Given the description of an element on the screen output the (x, y) to click on. 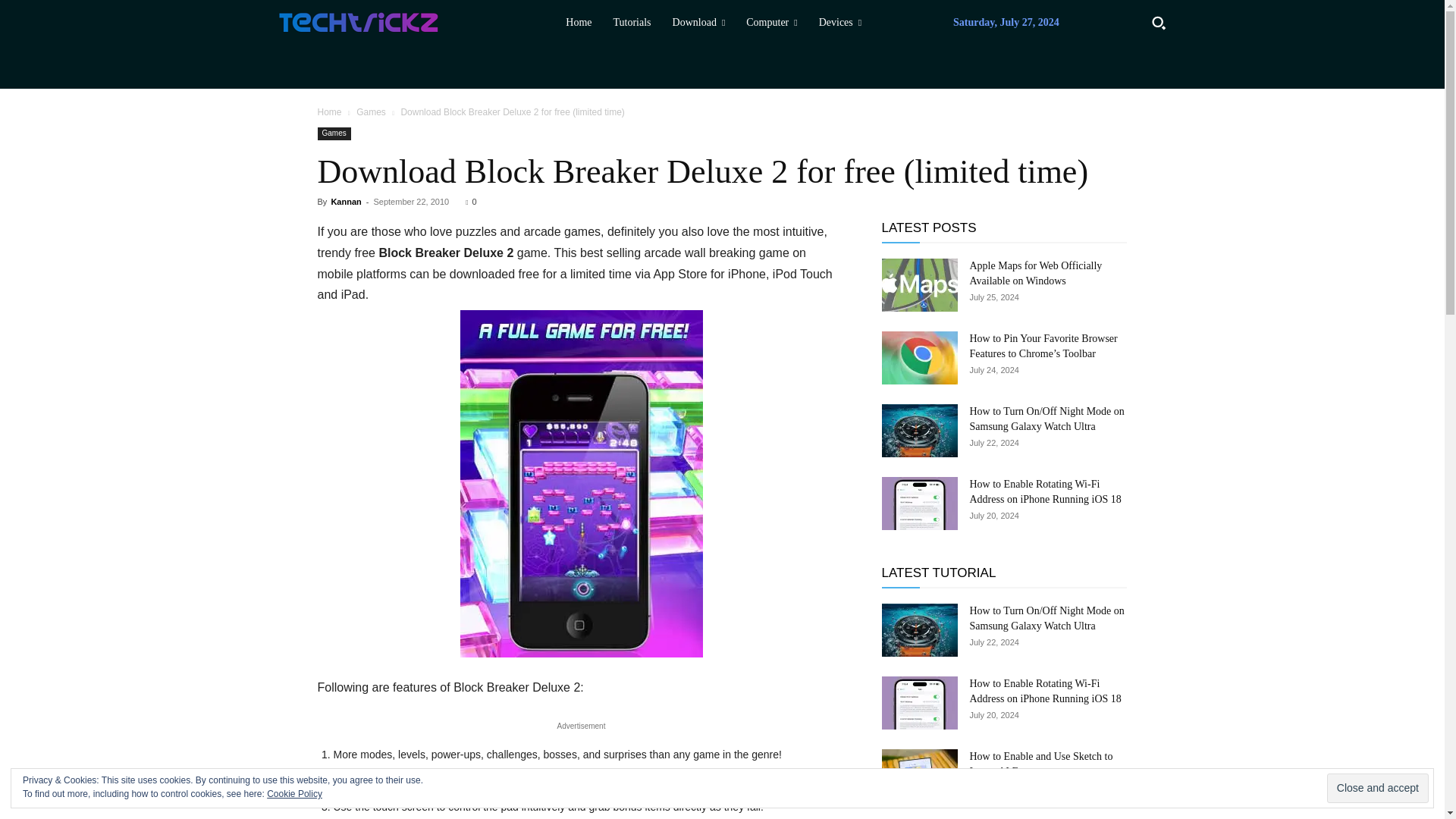
Devices (840, 22)
Close and accept (1377, 788)
Download (699, 22)
Tutorials (631, 22)
Home (578, 22)
View all posts in Games (370, 112)
Computer and smartphone guides and news (370, 22)
Computer (771, 22)
